Given the description of an element on the screen output the (x, y) to click on. 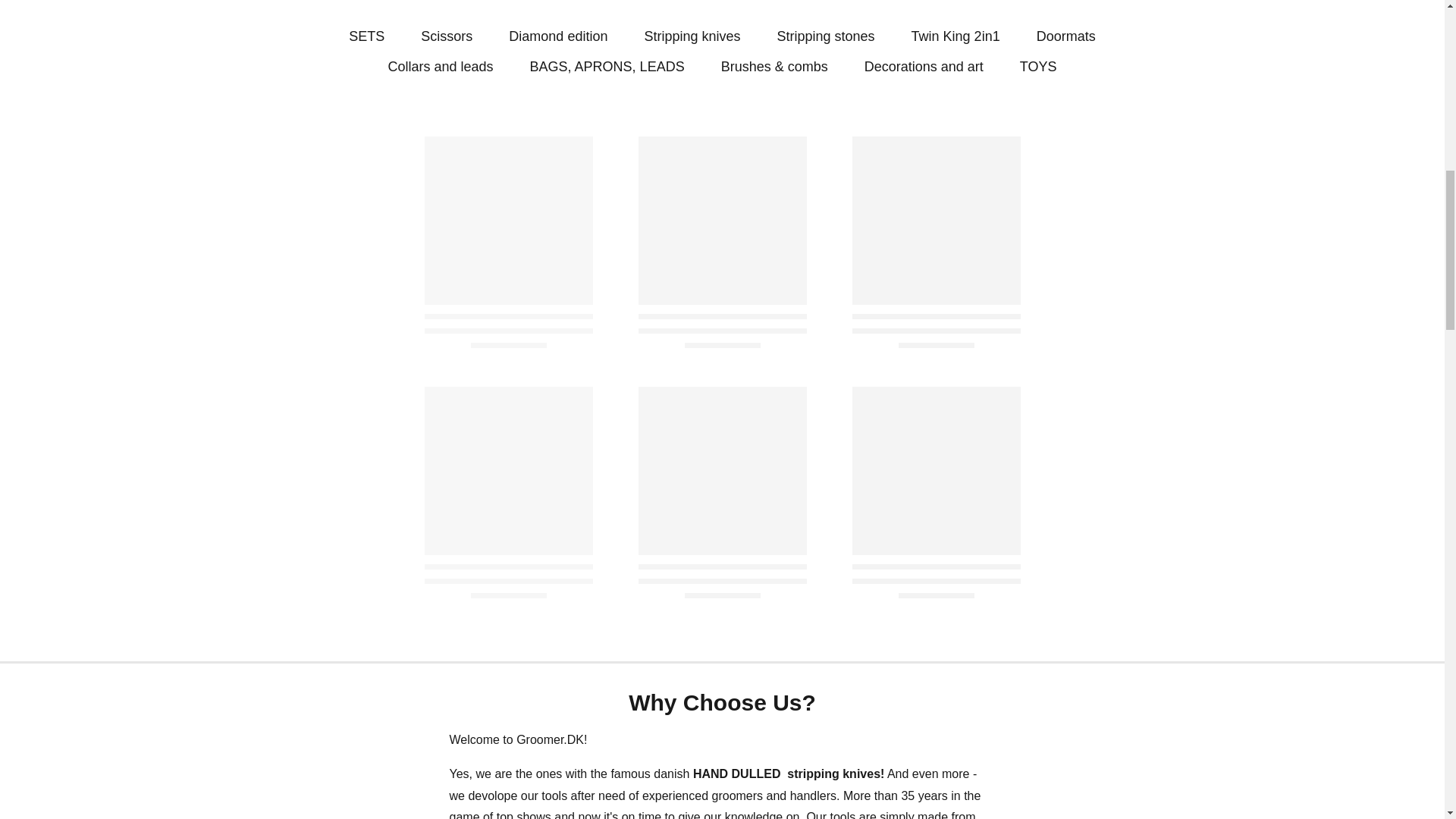
Diamond edition (557, 36)
Scissors (445, 36)
Twin King 2in1 (955, 36)
BAGS, APRONS, LEADS (606, 66)
Stripping knives (691, 36)
Collars and leads (440, 66)
Stripping stones (825, 36)
Doormats (1066, 36)
SETS (366, 36)
